Given the description of an element on the screen output the (x, y) to click on. 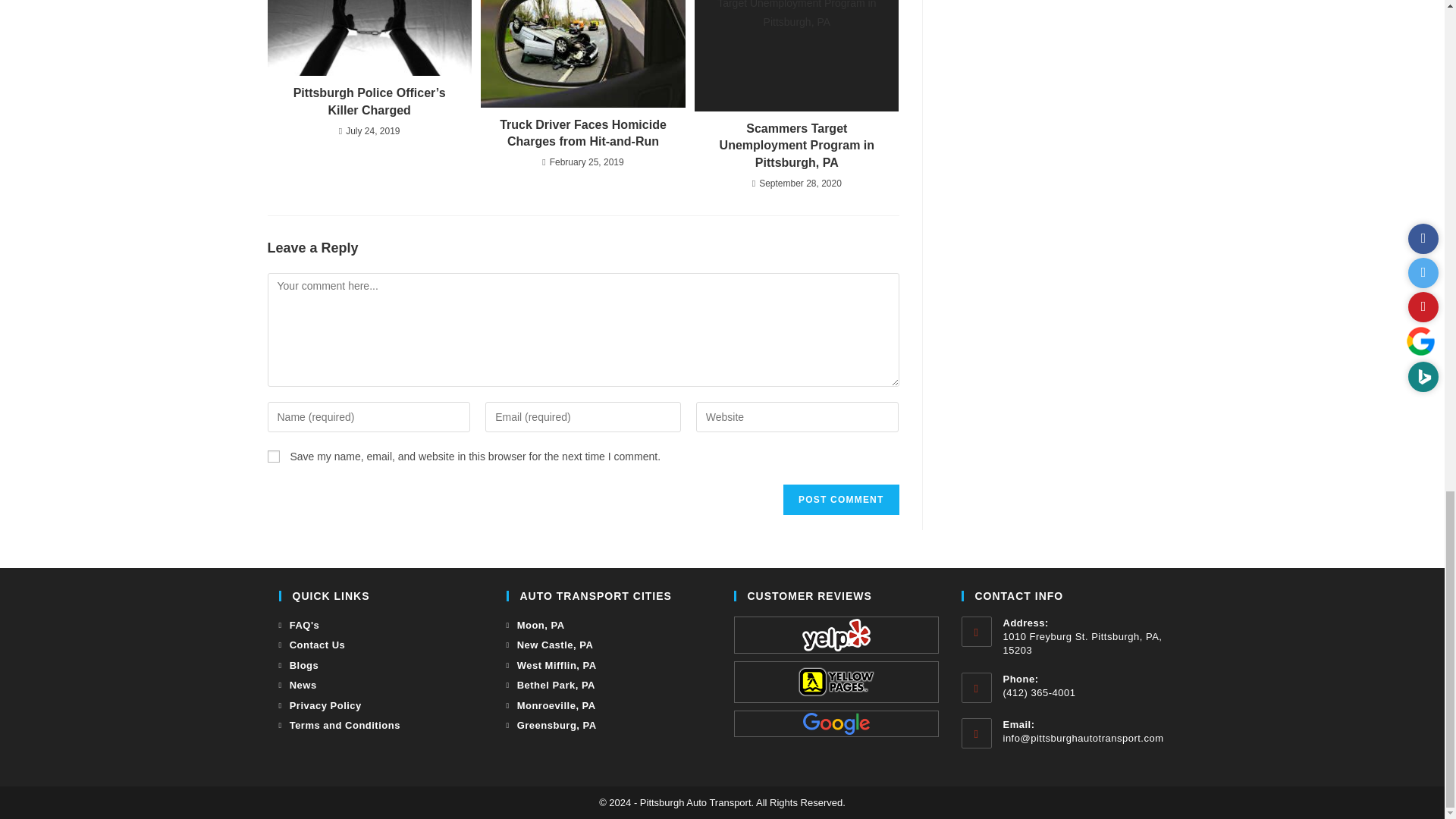
Google Reviews (835, 723)
Post Comment (840, 499)
yes (272, 456)
Truck Driver Faces Homicide Charges from Hit-and-Run (582, 133)
Yellow Pages Reviews (835, 682)
Post Comment (840, 499)
Yelp Reviews (836, 635)
Scammers Target Unemployment Program in Pittsburgh, PA (796, 145)
